Given the description of an element on the screen output the (x, y) to click on. 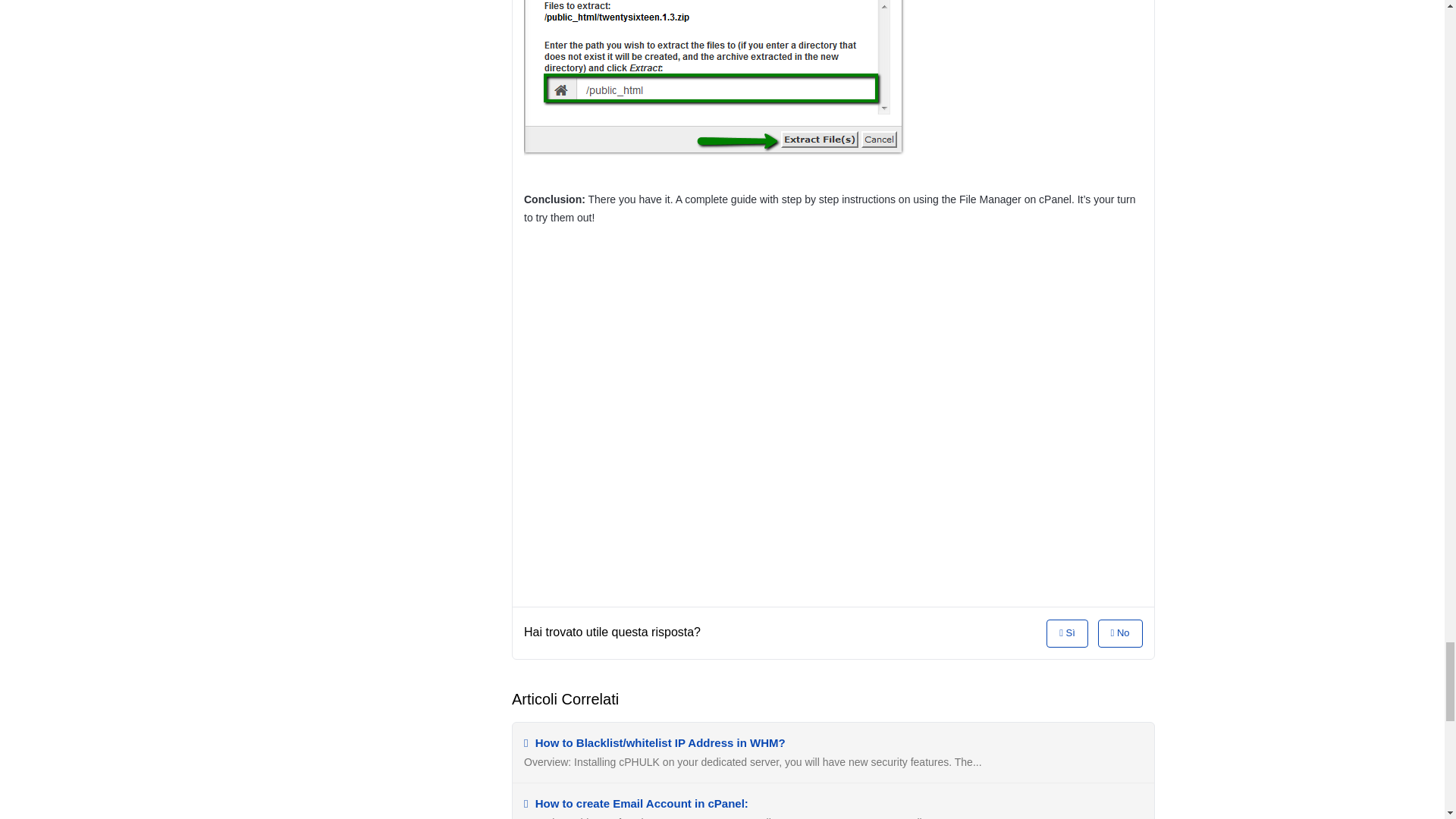
How to create Email Account in cPanel: (636, 802)
No (1119, 633)
